Given the description of an element on the screen output the (x, y) to click on. 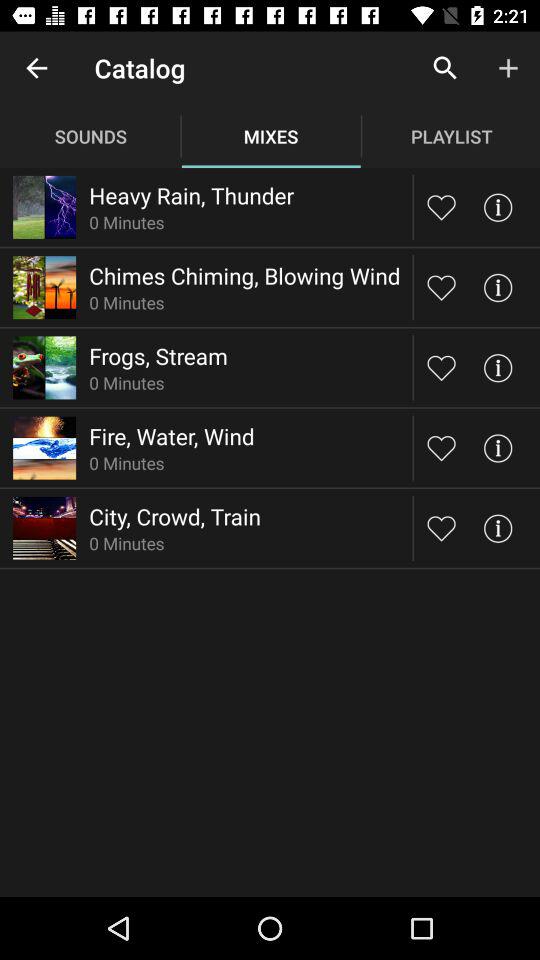
turn off icon next to the mixes (444, 67)
